Given the description of an element on the screen output the (x, y) to click on. 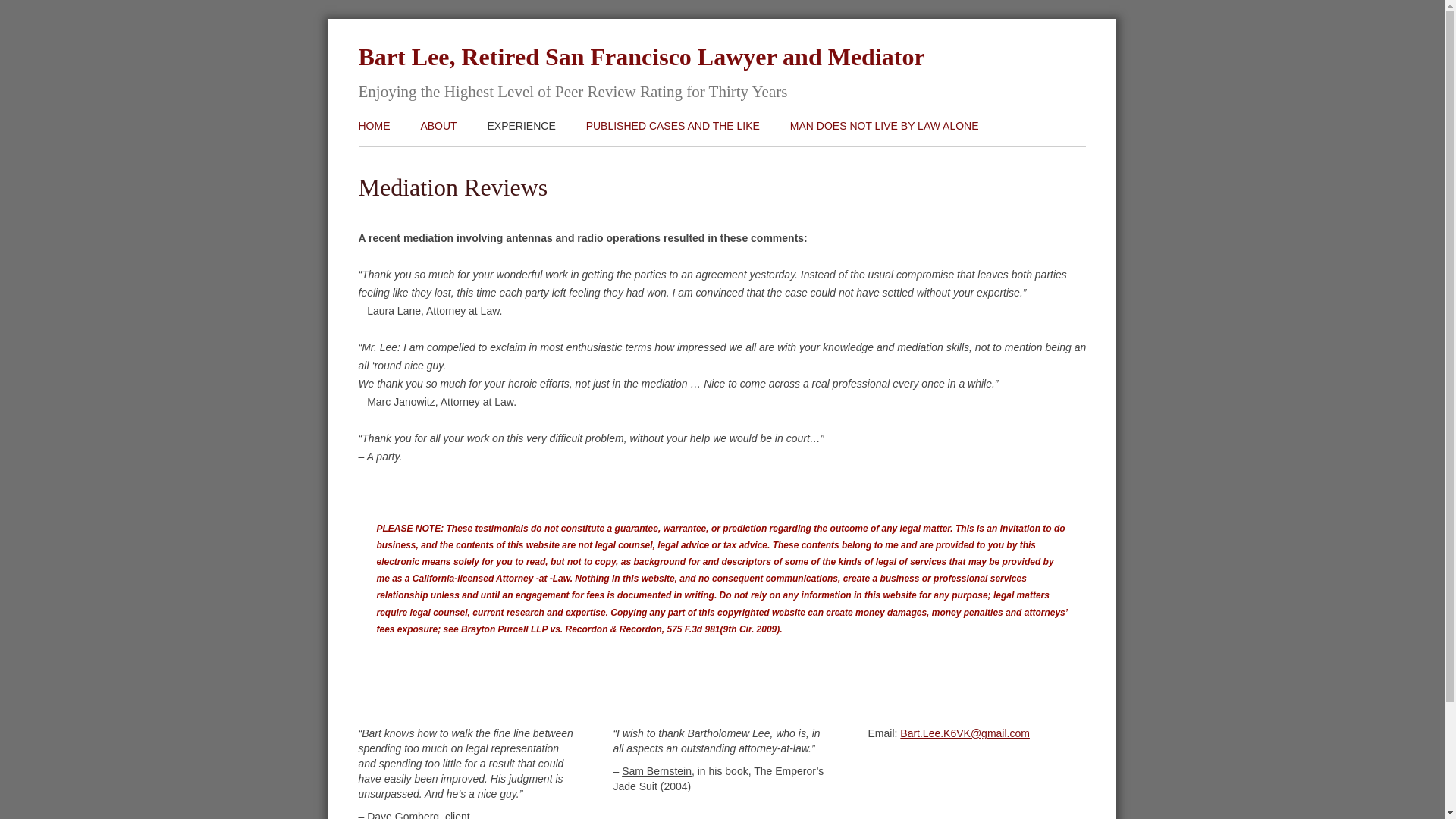
EXPERIENCE (521, 126)
About (522, 160)
PUBLISHED CASES AND THE LIKE (688, 160)
MAN DOES NOT LIVE BY LAW ALONE (884, 126)
EXPERIENCE (590, 160)
ABOUT (438, 126)
Published Cases, etc. (673, 126)
Published Cases, etc. (688, 160)
Services (521, 126)
ABOUT (522, 160)
About Bart Lee (438, 126)
HOME (374, 126)
PUBLISHED CASES AND THE LIKE (673, 126)
Bart Lee, Retired San Francisco Lawyer and Mediator (641, 56)
